Given the description of an element on the screen output the (x, y) to click on. 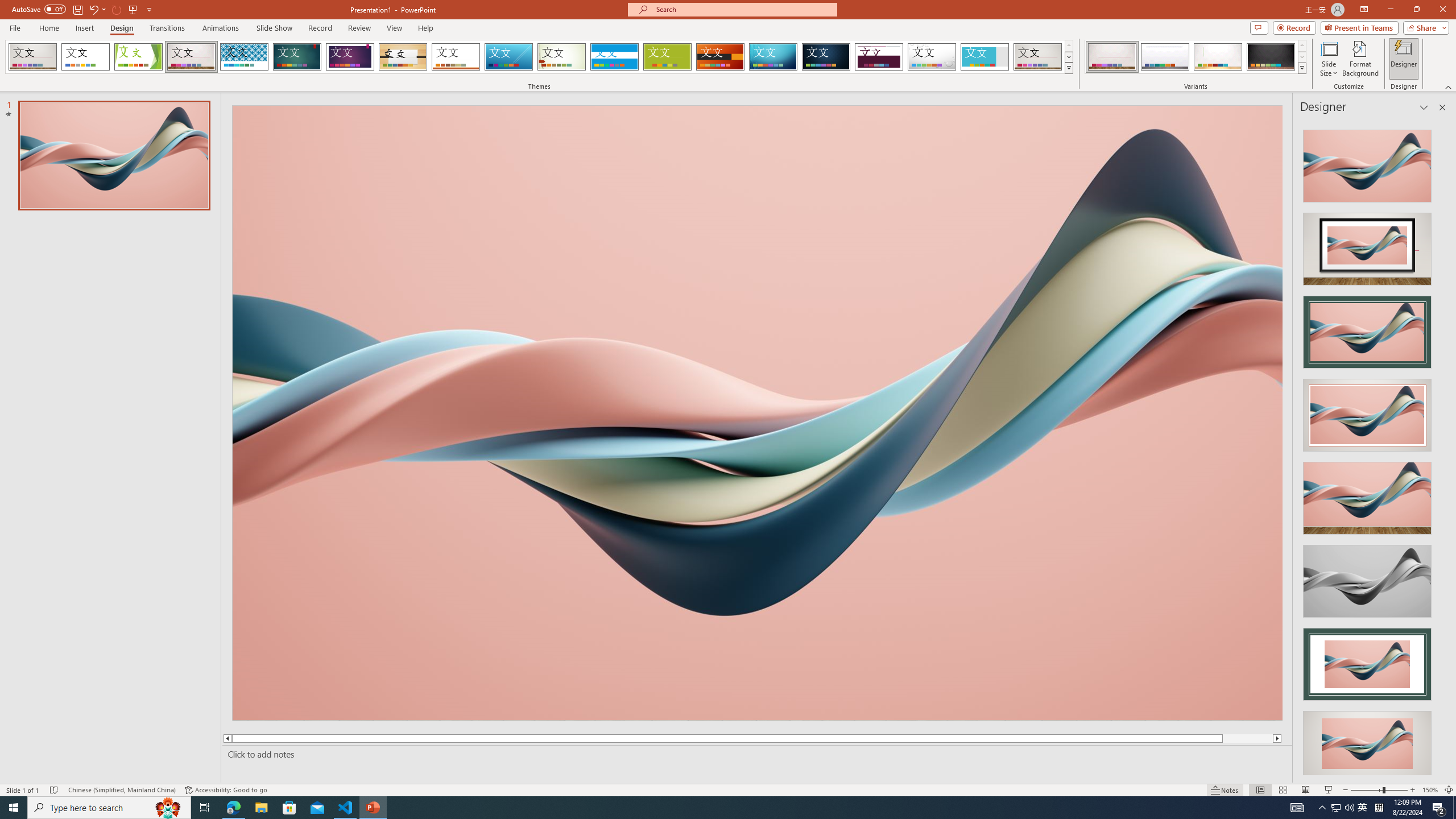
Basis (667, 56)
Themes (1068, 67)
Class: NetUIScrollBar (1441, 447)
AdornVTI (32, 56)
Circuit (772, 56)
